Given the description of an element on the screen output the (x, y) to click on. 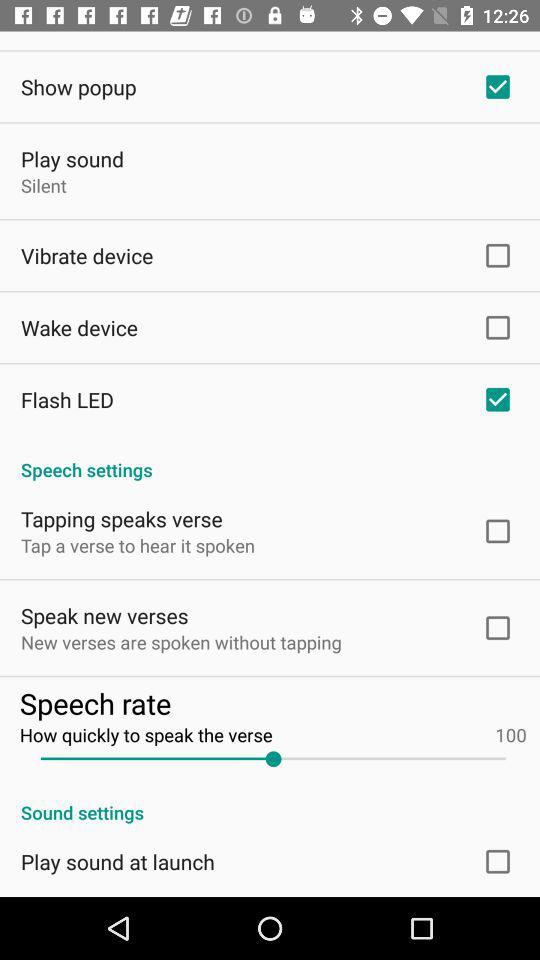
press wake device icon (79, 327)
